Given the description of an element on the screen output the (x, y) to click on. 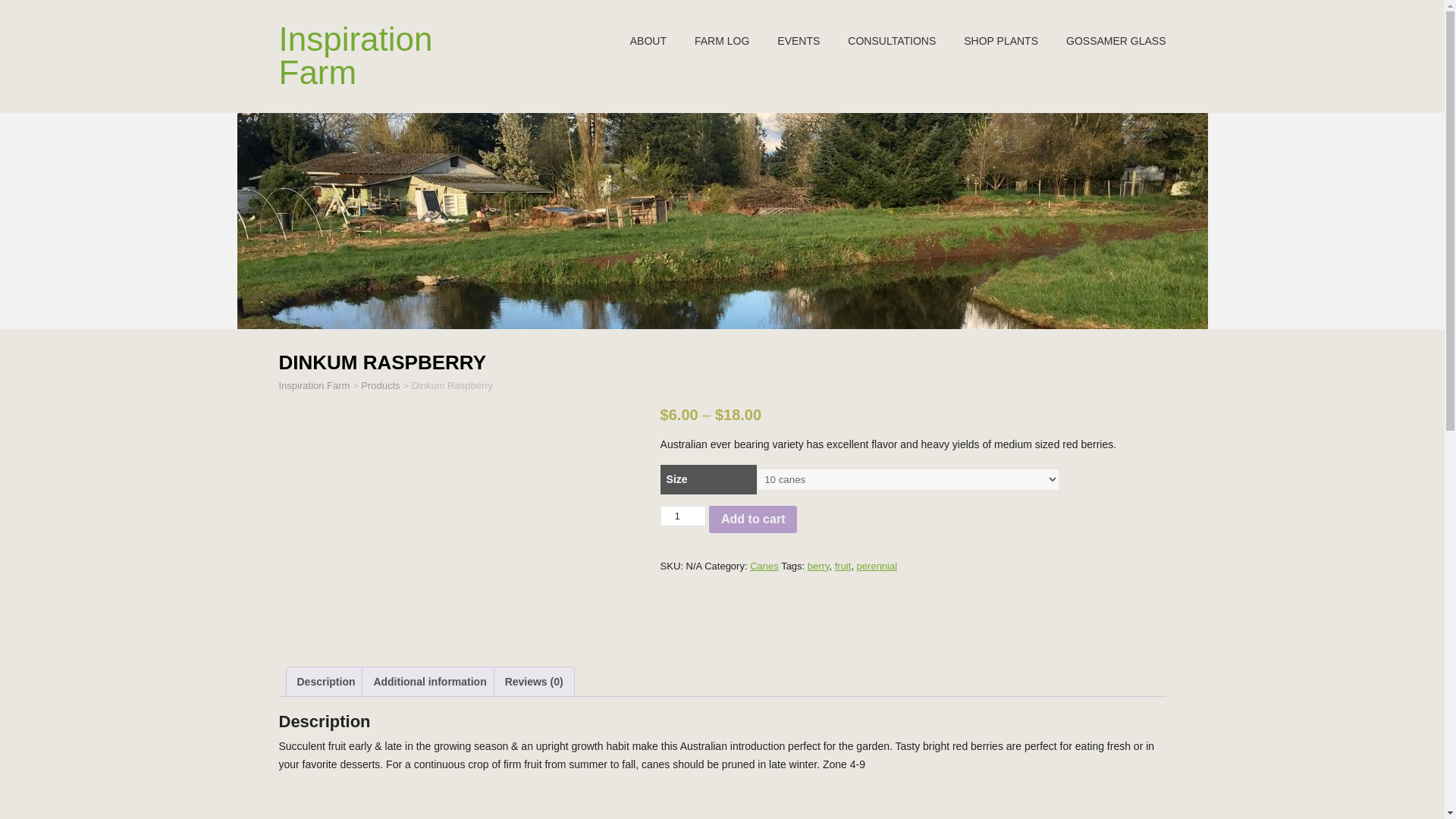
fruit (842, 565)
SHOP PLANTS (1000, 40)
Inspiration Farm (355, 55)
CONSULTATIONS (891, 40)
Go to Products. (379, 385)
berry (818, 565)
1 (683, 516)
Description (326, 681)
Go to Inspiration Farm. (314, 385)
new (1115, 40)
Canes (763, 565)
perennial (877, 565)
Add to cart (752, 519)
Products (379, 385)
Inspiration Farm (314, 385)
